Given the description of an element on the screen output the (x, y) to click on. 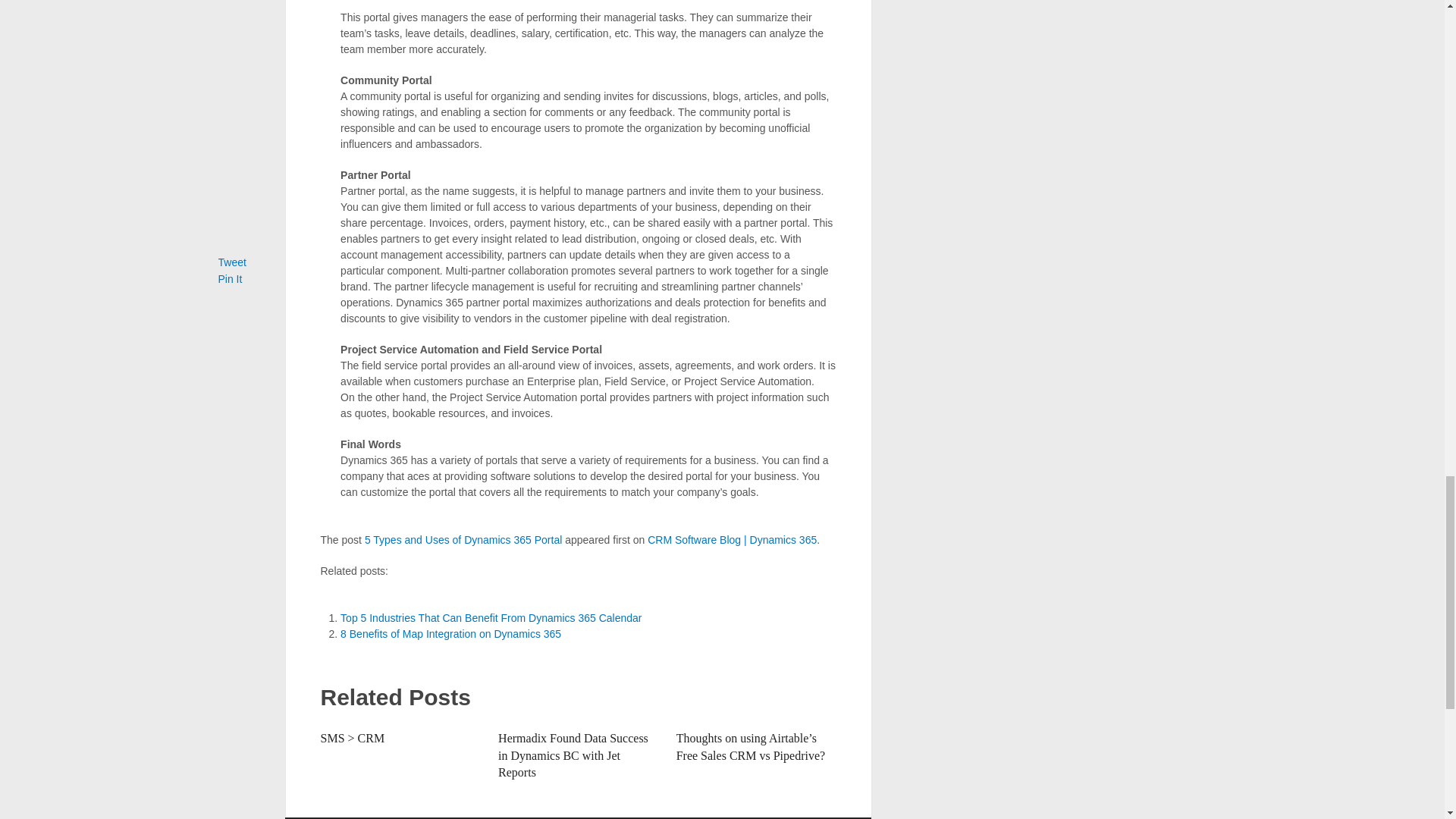
Top 5 Industries That Can Benefit From Dynamics 365 Calendar (491, 617)
8 Benefits of Map Integration on Dynamics 365 (450, 633)
8 Benefits of Map Integration on Dynamics 365 (450, 633)
5 Types and Uses of Dynamics 365 Portal (463, 539)
Hermadix Found Data Success in Dynamics BC with Jet Reports (572, 755)
Hermadix Found Data Success in Dynamics BC with Jet Reports (572, 755)
Top 5 Industries That Can Benefit From Dynamics 365 Calendar (491, 617)
